Given the description of an element on the screen output the (x, y) to click on. 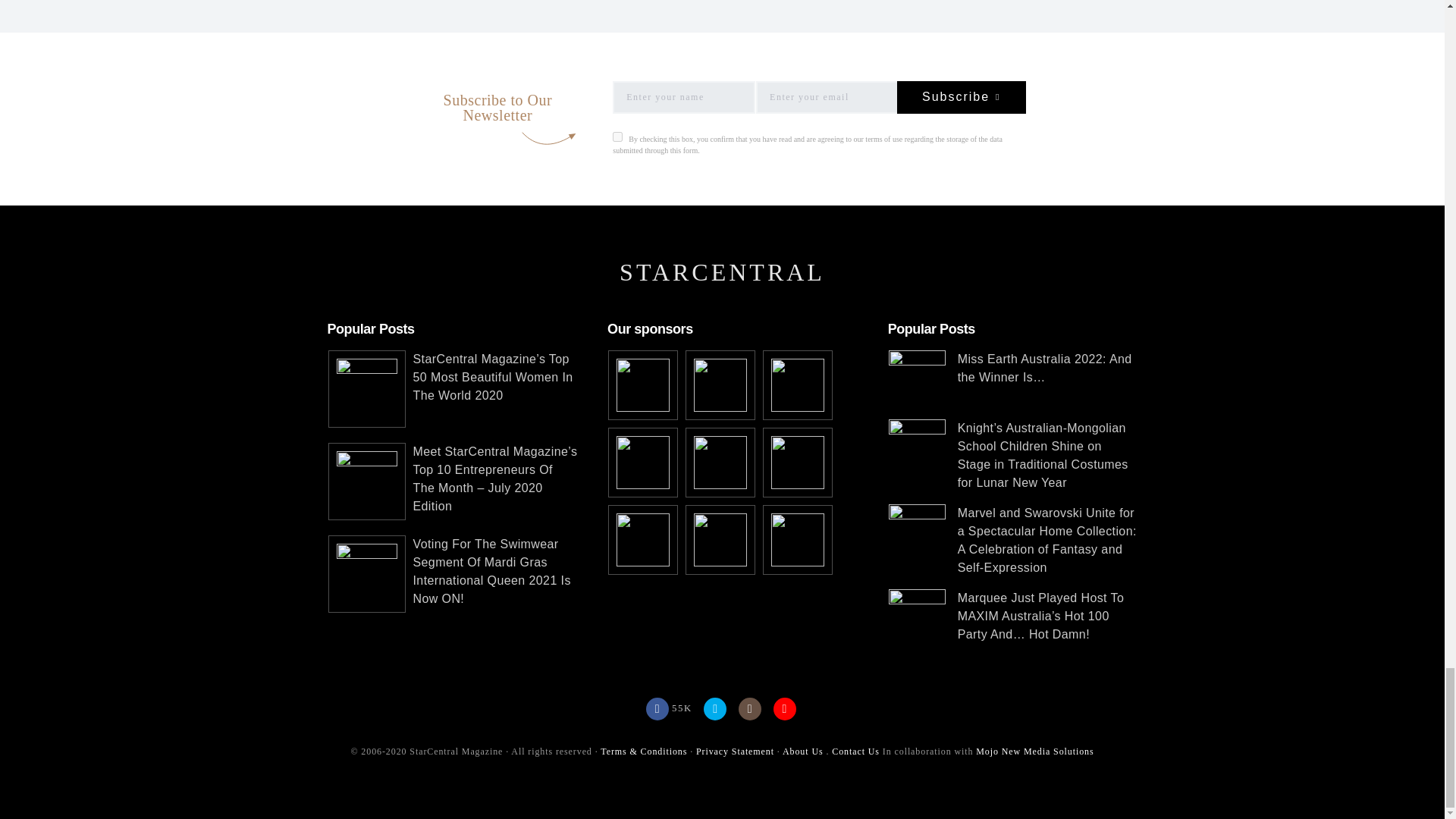
on (617, 136)
